Given the description of an element on the screen output the (x, y) to click on. 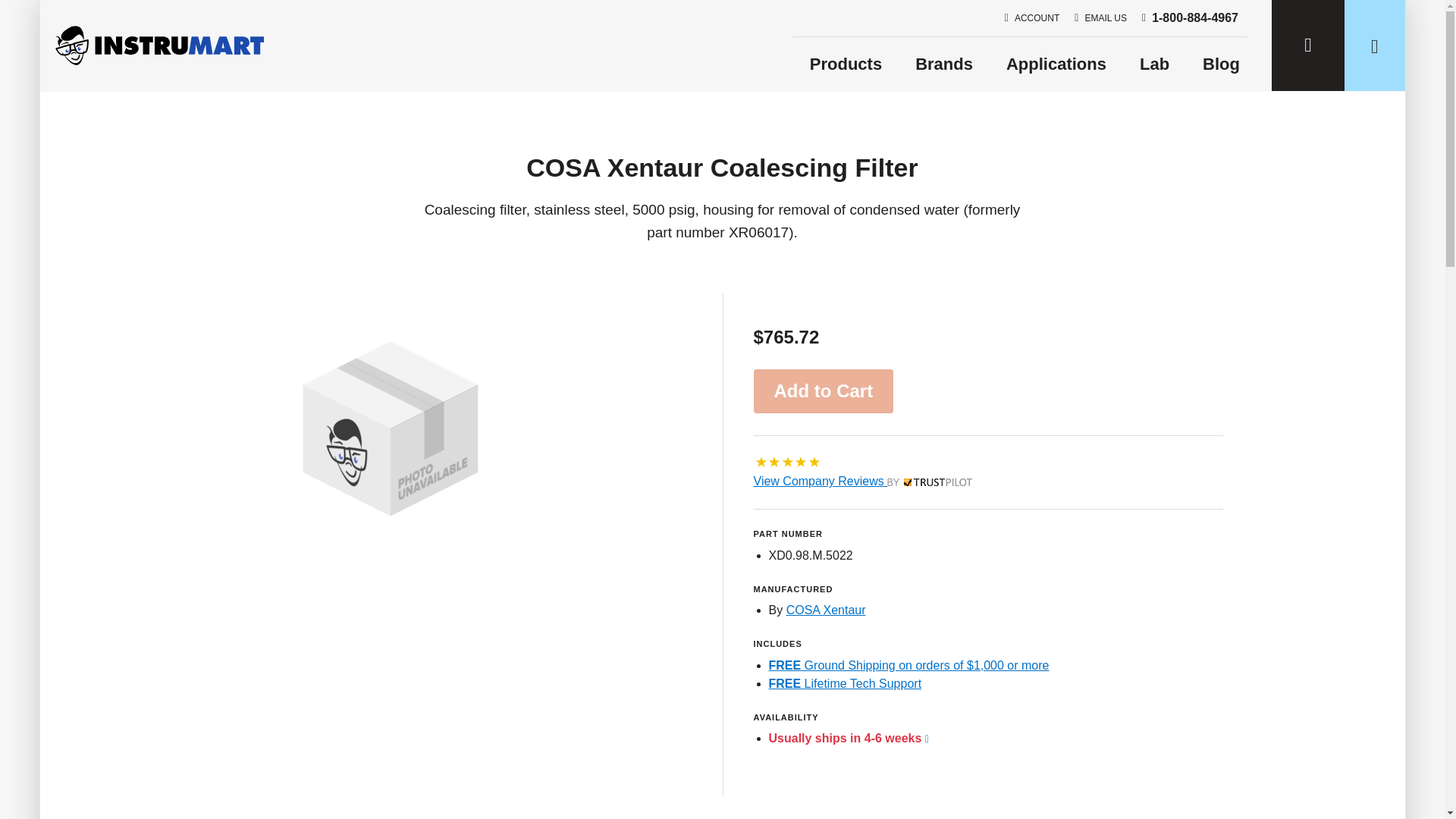
Add to Cart (823, 391)
Add to Cart (823, 391)
EMAIL US (1100, 18)
Brands (943, 63)
ACCOUNT (1031, 18)
COSA Xentaur (865, 481)
Blog (826, 609)
Lab (1221, 63)
Applications (1154, 63)
FREE Lifetime Tech Support (1056, 63)
1-800-884-4967 (844, 683)
Products (1190, 18)
